Given the description of an element on the screen output the (x, y) to click on. 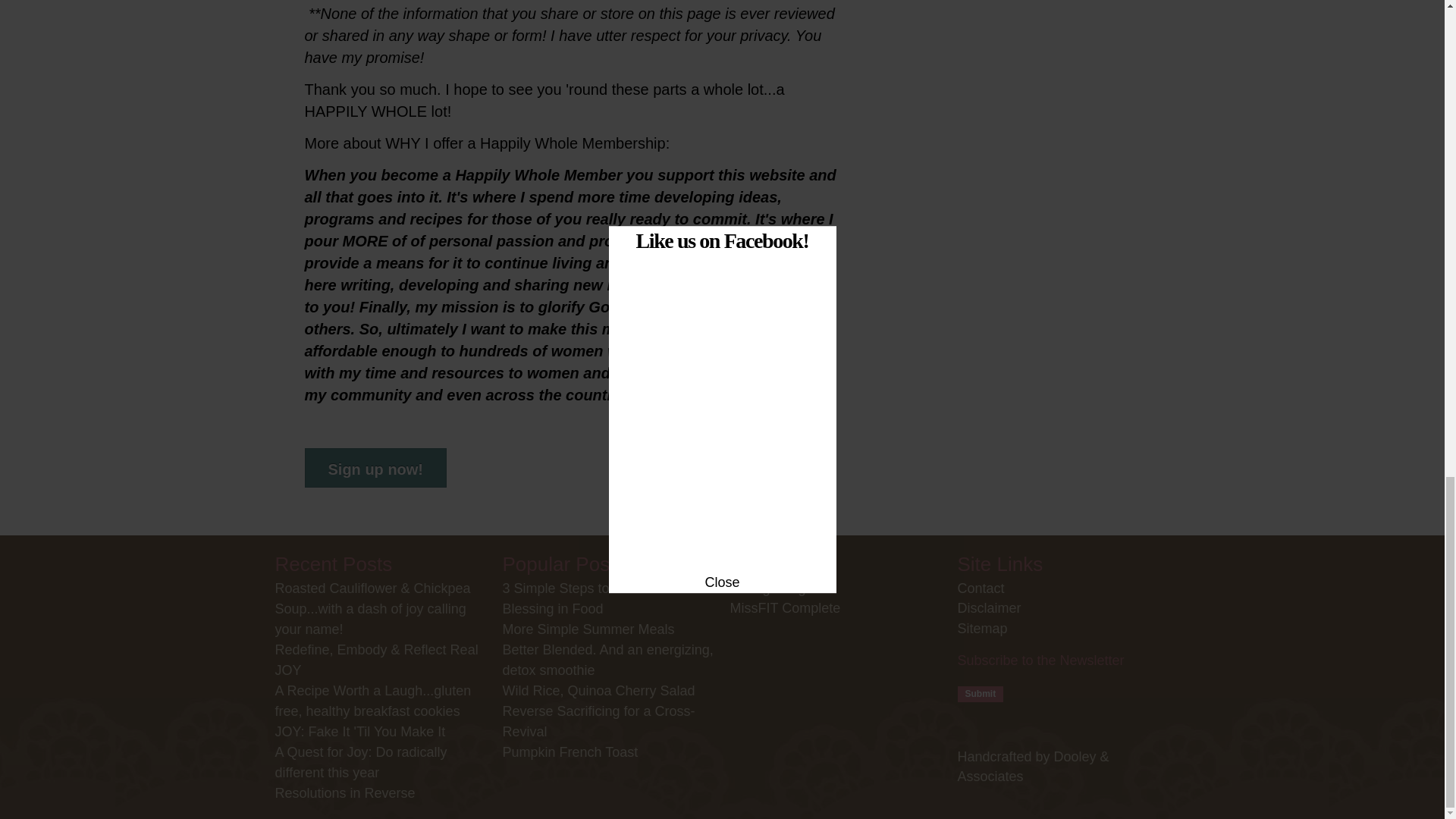
Sign up now! (375, 467)
Submit (979, 693)
